Given the description of an element on the screen output the (x, y) to click on. 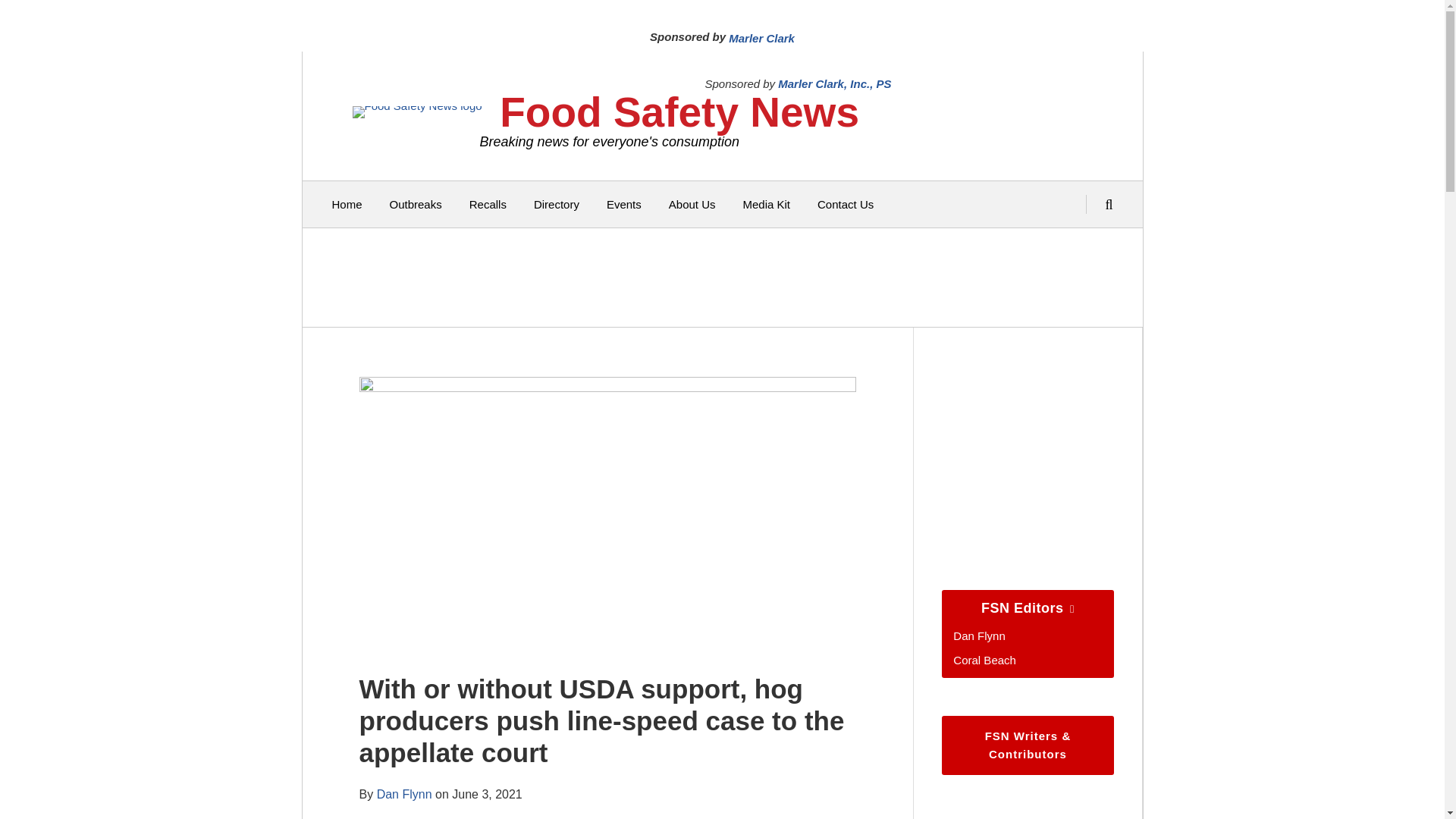
Food Safety News (679, 111)
Dan Flynn (978, 635)
Outbreaks (416, 204)
Media Kit (766, 204)
Directory (556, 204)
Home (346, 204)
About Us (692, 204)
Marler Clark (761, 38)
Events (624, 204)
Dan Flynn (404, 793)
Contact Us (844, 204)
Recalls (487, 204)
Marler Clark, Inc., PS (834, 83)
Coral Beach (984, 659)
